Given the description of an element on the screen output the (x, y) to click on. 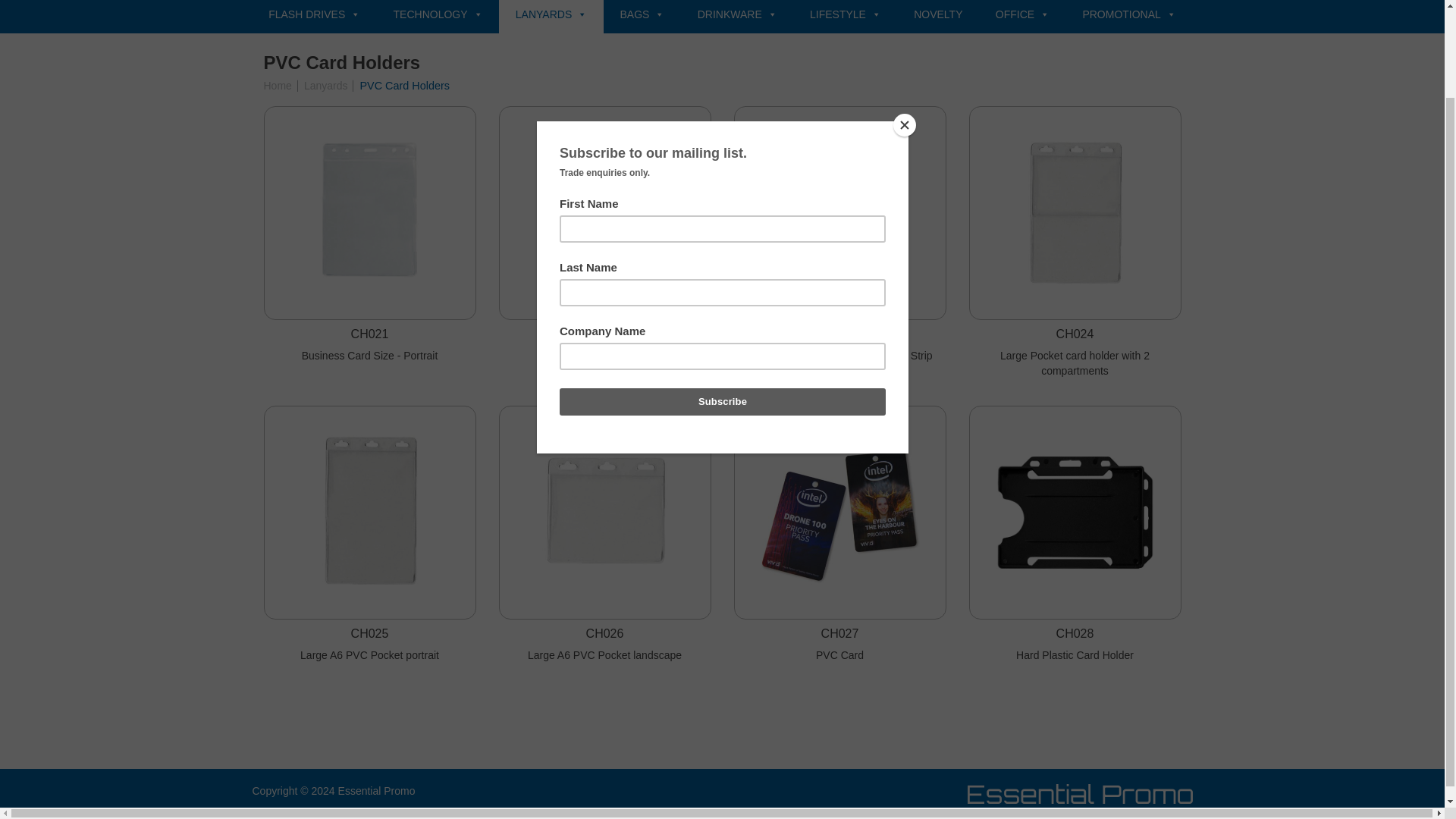
FLASH DRIVES (313, 16)
TECHNOLOGY (438, 16)
